Given the description of an element on the screen output the (x, y) to click on. 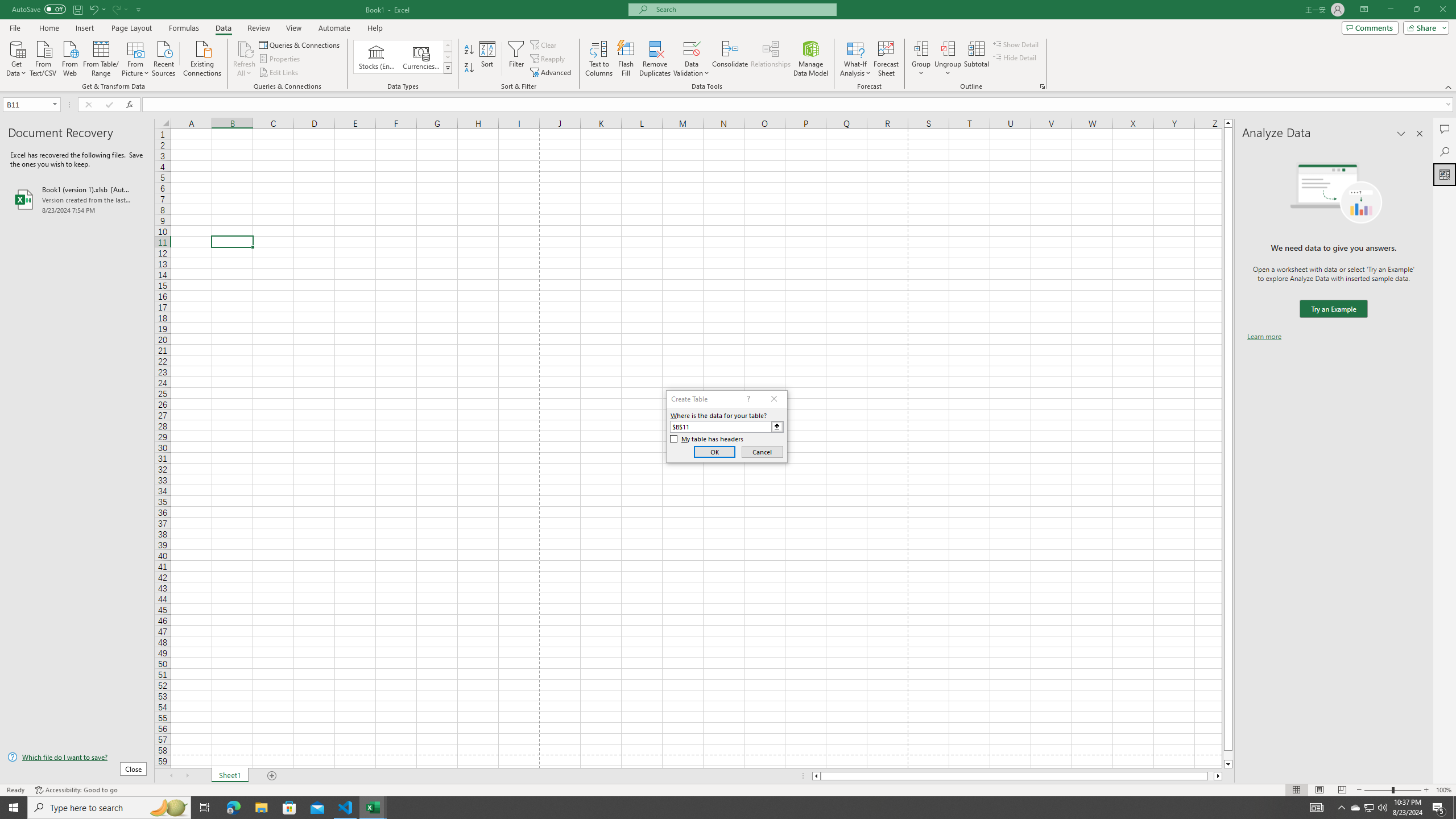
Stocks (English) (375, 56)
Automate (334, 28)
Recent Sources (163, 57)
